Given the description of an element on the screen output the (x, y) to click on. 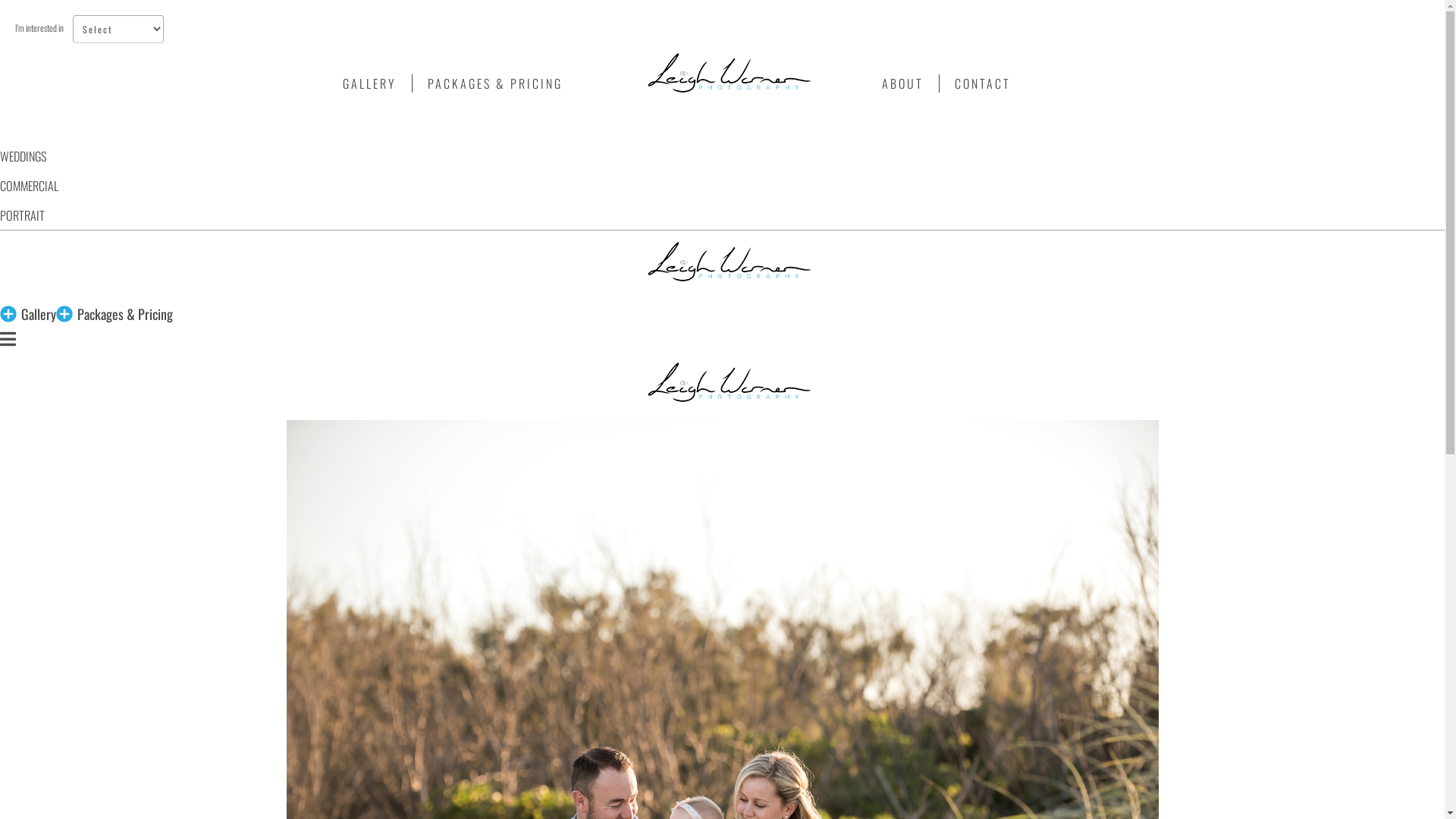
COMMERCIAL Element type: text (29, 185)
PORTRAIT Element type: text (22, 215)
PACKAGES & PRICING Element type: text (494, 83)
Packages & Pricing Element type: text (124, 313)
Gallery Element type: text (38, 313)
ABOUT Element type: text (902, 83)
GALLERY Element type: text (369, 83)
WEDDINGS Element type: text (23, 156)
CONTACT Element type: text (982, 83)
